Given the description of an element on the screen output the (x, y) to click on. 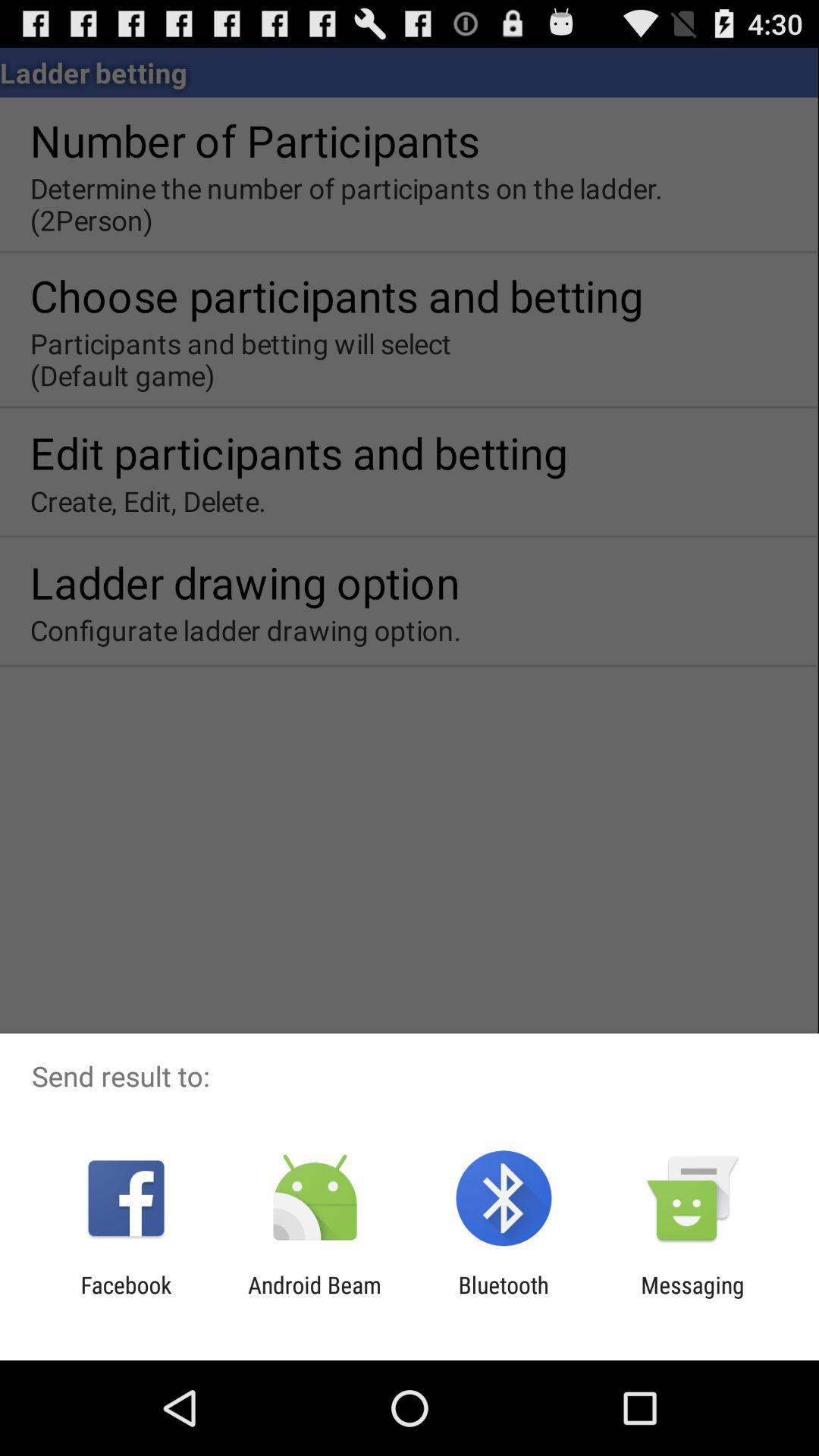
swipe to the android beam (314, 1298)
